Given the description of an element on the screen output the (x, y) to click on. 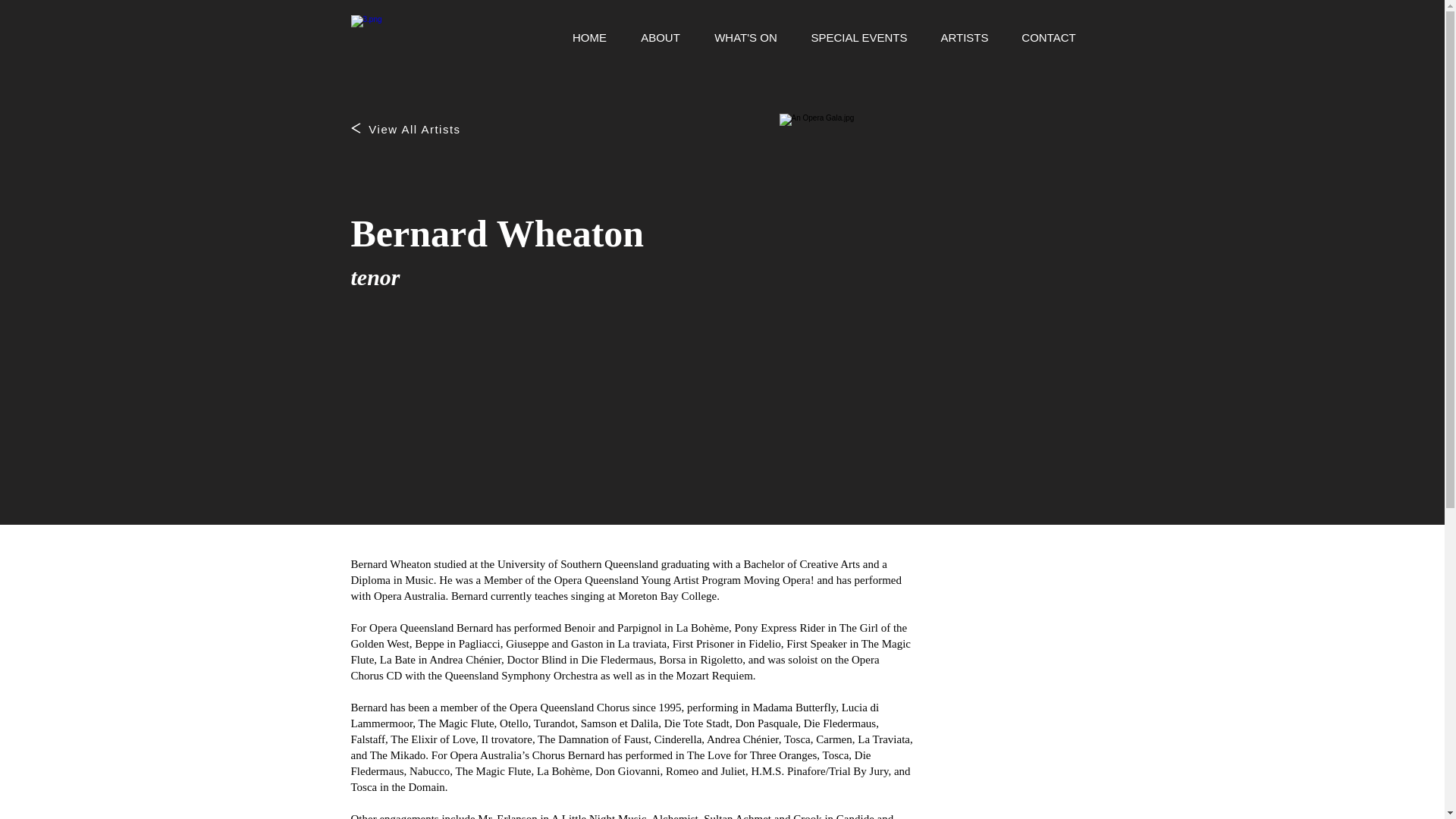
ARTISTS (963, 37)
CONTACT (1049, 37)
View All Artists (415, 128)
HOME (588, 37)
WHAT'S ON (745, 37)
ABOUT (660, 37)
SPECIAL EVENTS (859, 37)
